Given the description of an element on the screen output the (x, y) to click on. 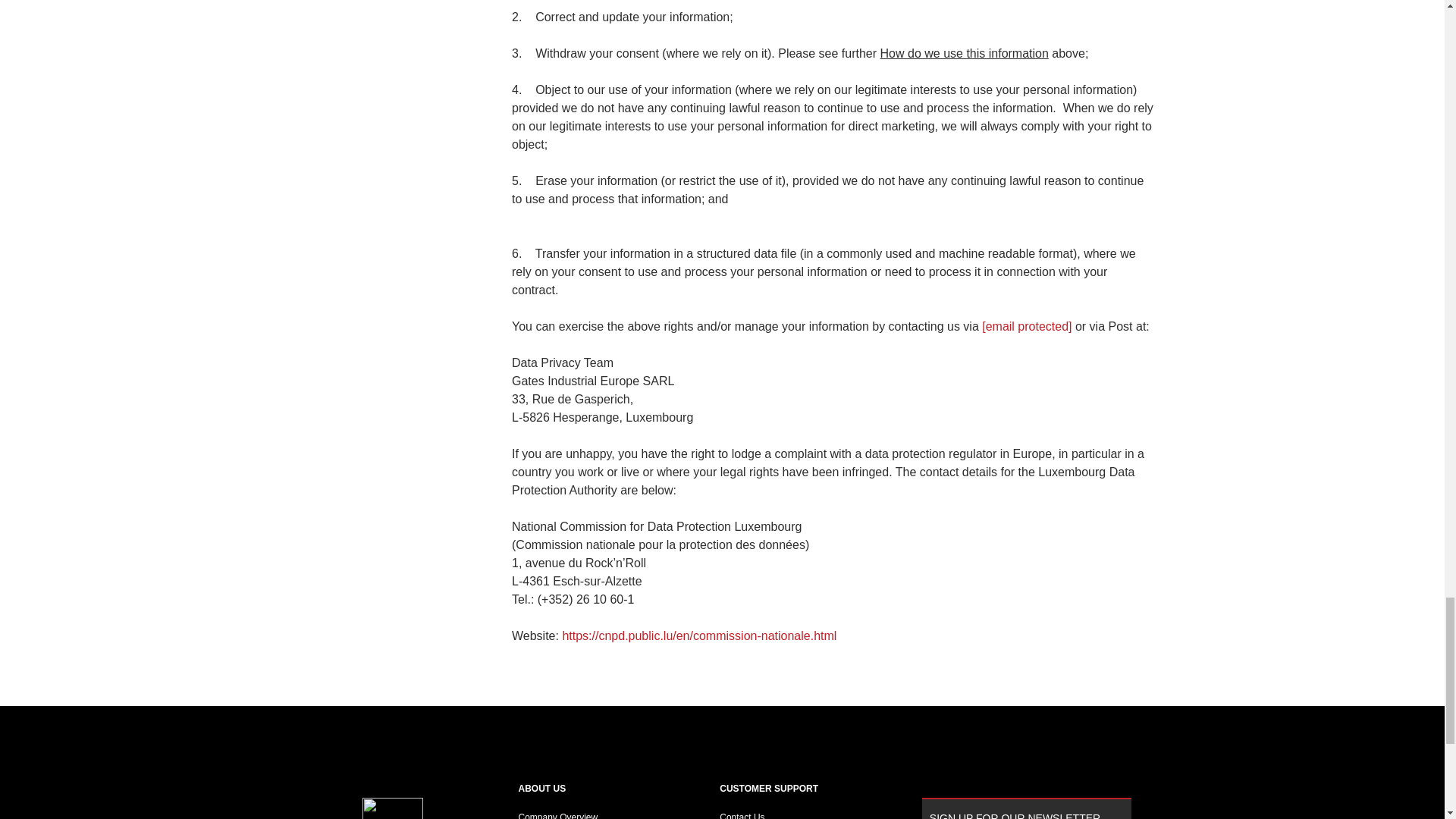
Company Overview (558, 815)
Contact Us (741, 815)
